Given the description of an element on the screen output the (x, y) to click on. 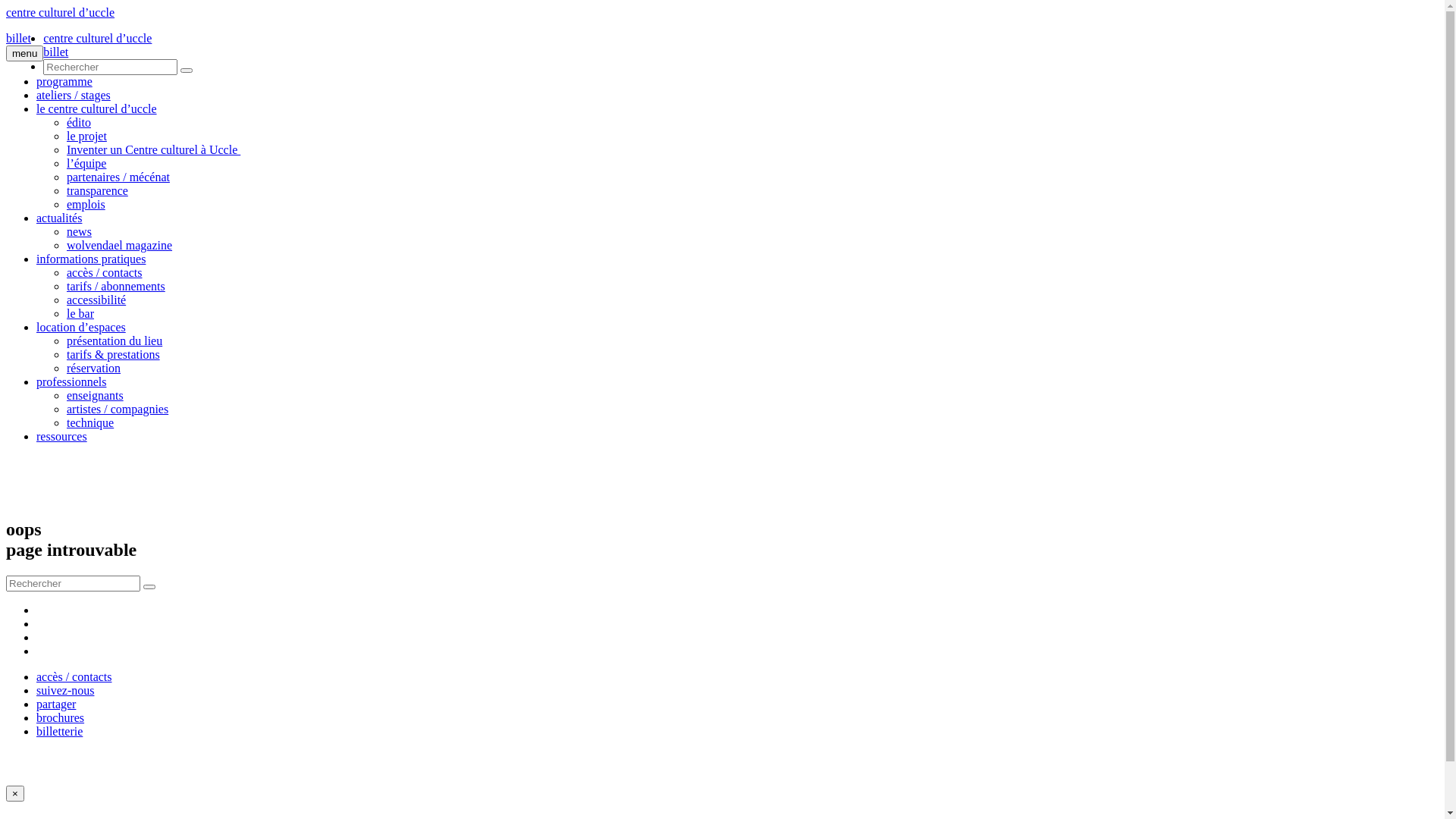
technique Element type: text (89, 422)
partager Element type: text (737, 704)
Submit Element type: text (149, 586)
informations pratiques Element type: text (90, 258)
enseignants Element type: text (94, 395)
suivez-nous Element type: text (737, 690)
billetterie Element type: text (59, 730)
brochures Element type: text (737, 717)
le bar Element type: text (80, 313)
billet Element type: text (55, 51)
programme Element type: text (64, 81)
transparence Element type: text (97, 190)
billet Element type: text (18, 38)
Submit Element type: text (186, 70)
suivez-nous Element type: text (65, 690)
le projet Element type: text (86, 135)
ateliers / stages Element type: text (73, 94)
brochures Element type: text (60, 717)
partager Element type: text (55, 703)
news Element type: text (78, 231)
menu Element type: text (24, 53)
artistes / compagnies Element type: text (117, 408)
tarifs & prestations Element type: text (113, 354)
professionnels Element type: text (71, 381)
emplois Element type: text (85, 203)
ressources Element type: text (61, 435)
wolvendael magazine Element type: text (119, 244)
tarifs / abonnements Element type: text (115, 285)
